Given the description of an element on the screen output the (x, y) to click on. 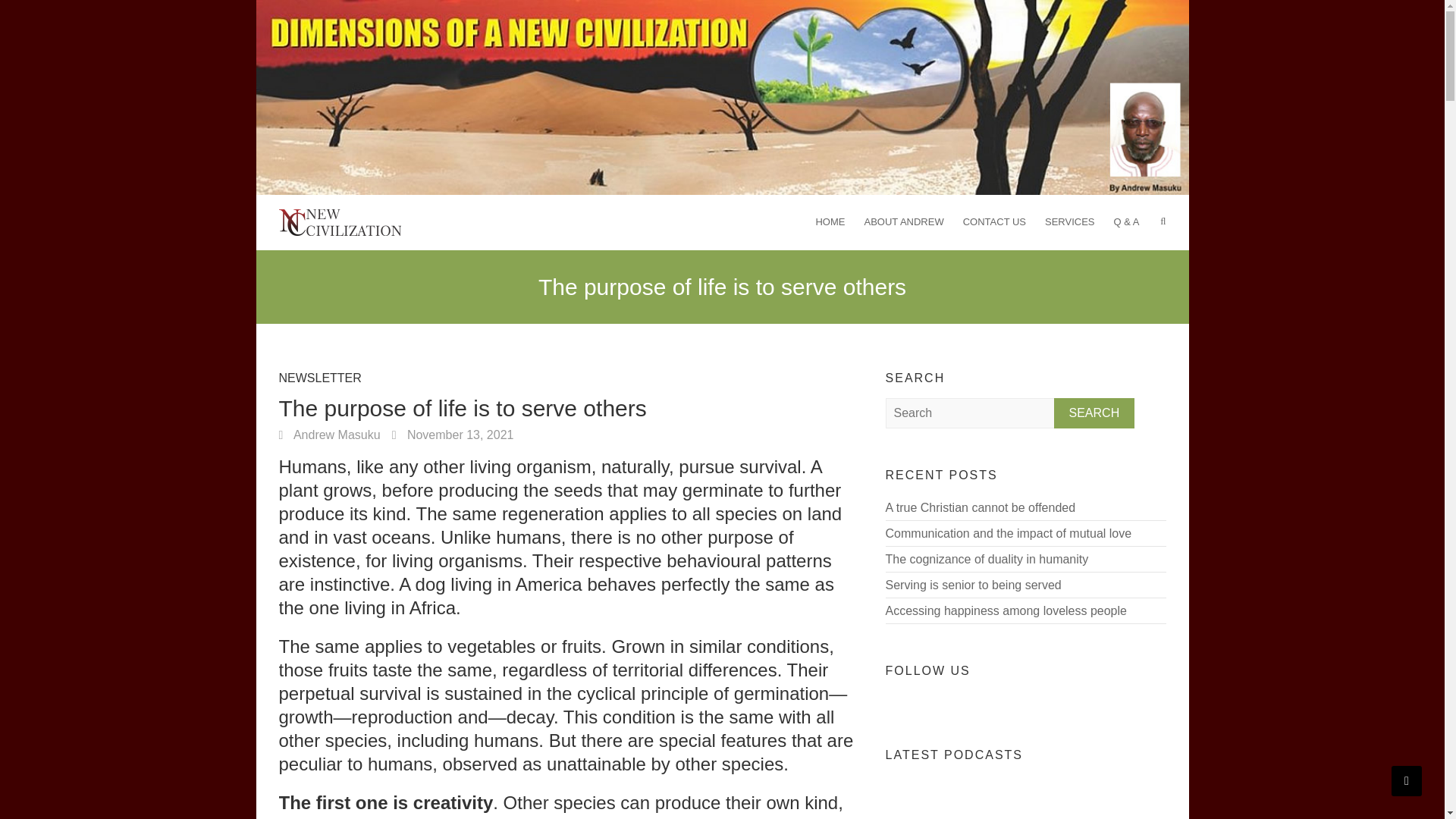
7:08 am (452, 433)
ABOUT ANDREW (903, 220)
The cognizance of duality in humanity (987, 558)
Communication and the impact of mutual love (1008, 532)
Search (1094, 412)
Accessing happiness among loveless people (1005, 609)
Serving is senior to being served (973, 584)
A true Christian cannot be offended (980, 506)
SERVICES (1069, 220)
NEWSLETTER (320, 380)
